Given the description of an element on the screen output the (x, y) to click on. 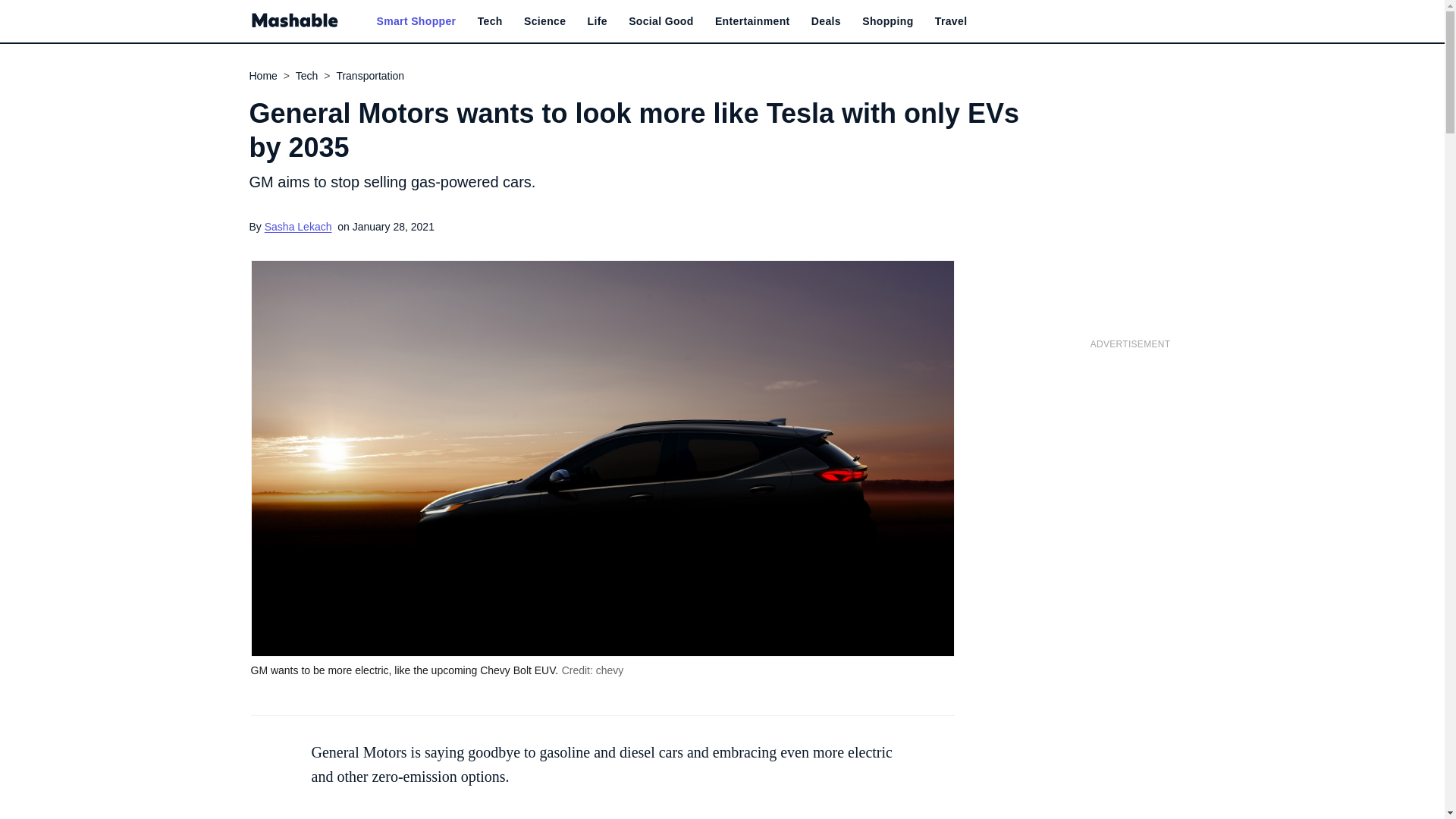
Science (545, 21)
Social Good (661, 21)
Entertainment (752, 21)
Life (597, 21)
Deals (825, 21)
Shopping (886, 21)
Travel (951, 21)
Smart Shopper (415, 21)
Tech (489, 21)
